Given the description of an element on the screen output the (x, y) to click on. 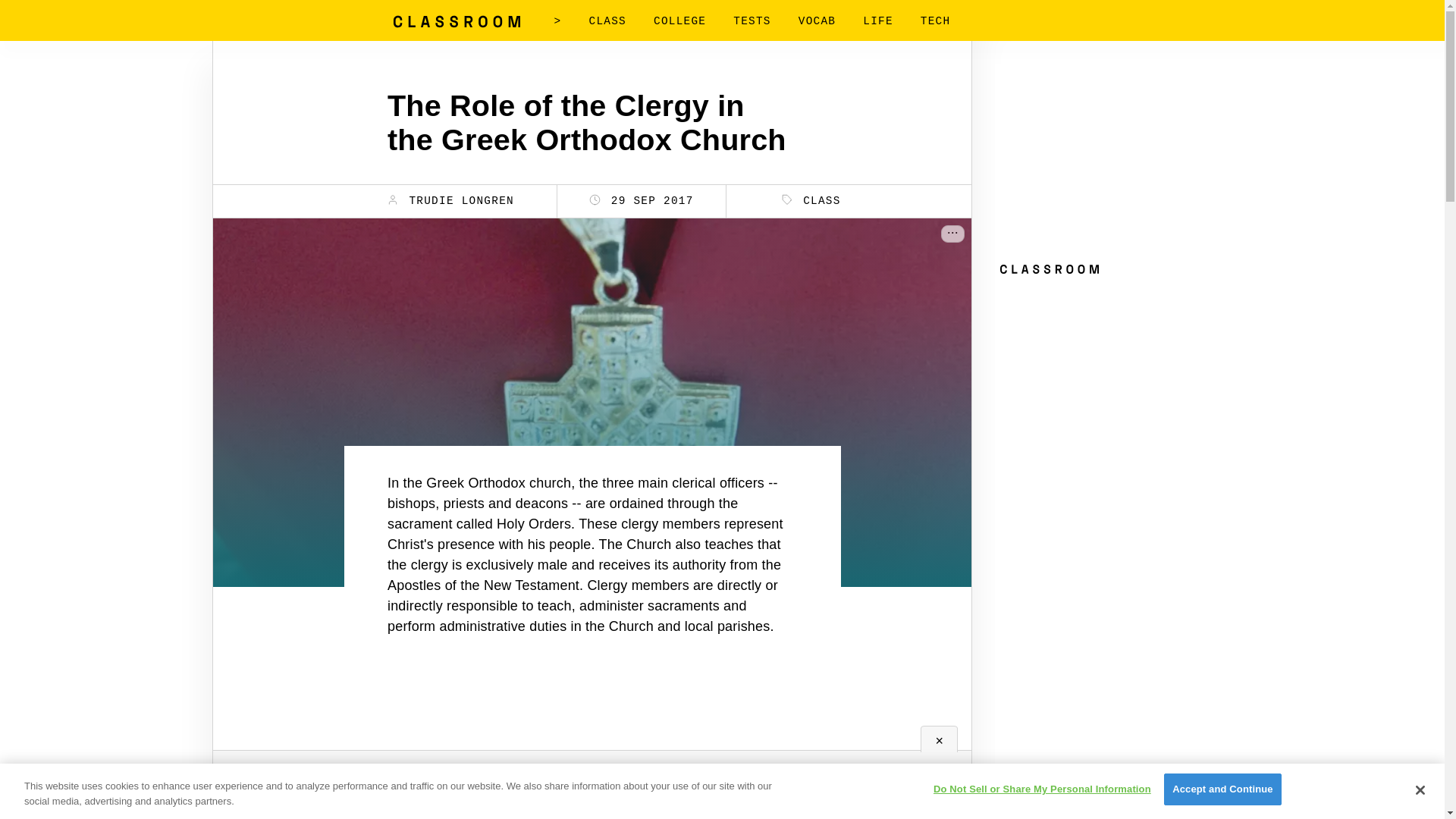
3rd party ad content (1108, 158)
COLLEGE (679, 21)
TECH (935, 21)
VOCAB (816, 21)
3rd party ad content (592, 755)
TESTS (751, 21)
LIFE (878, 21)
CLASS (811, 200)
3rd party ad content (1108, 376)
CLASS (607, 21)
